Given the description of an element on the screen output the (x, y) to click on. 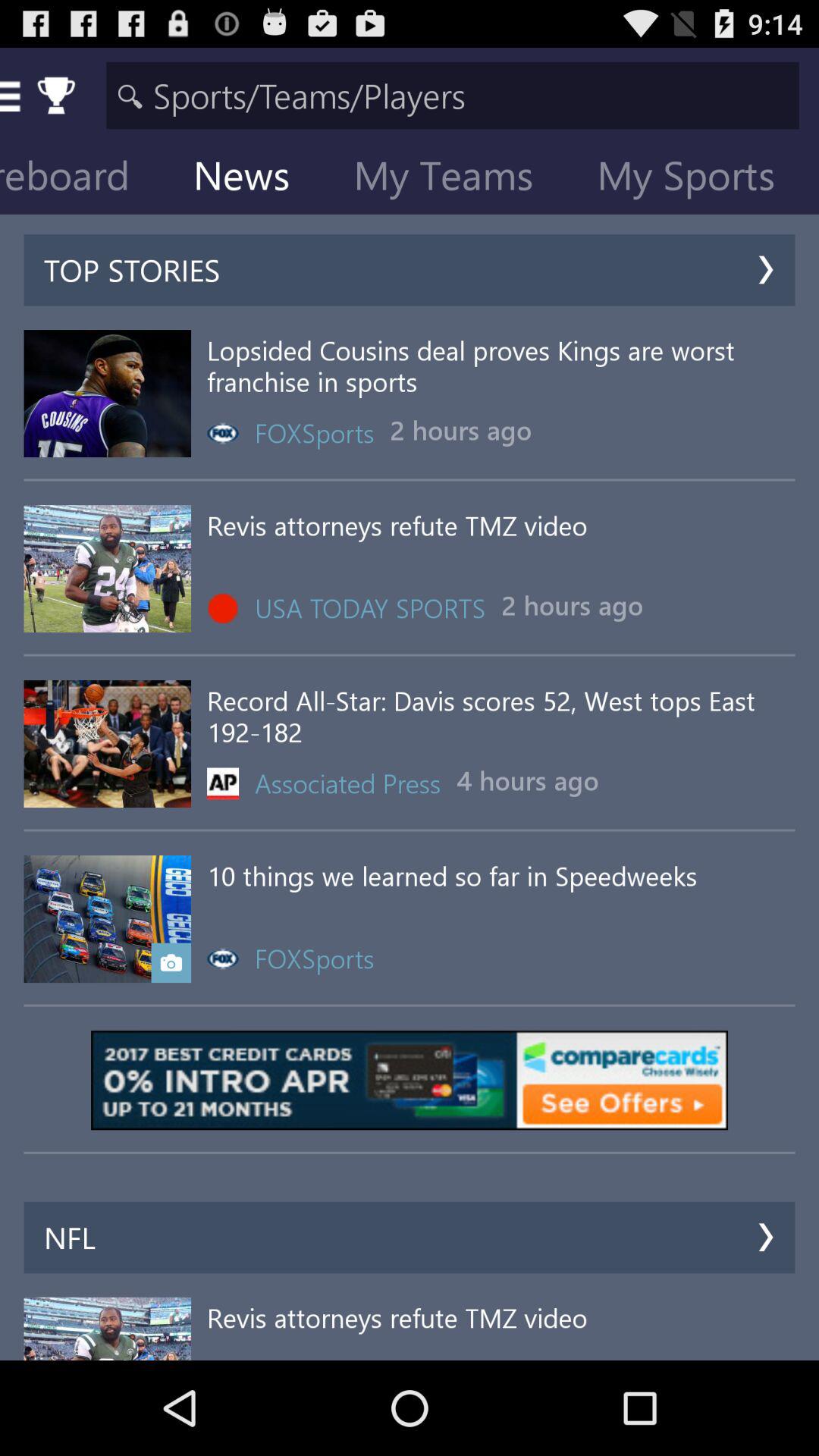
search bar (452, 95)
